Given the description of an element on the screen output the (x, y) to click on. 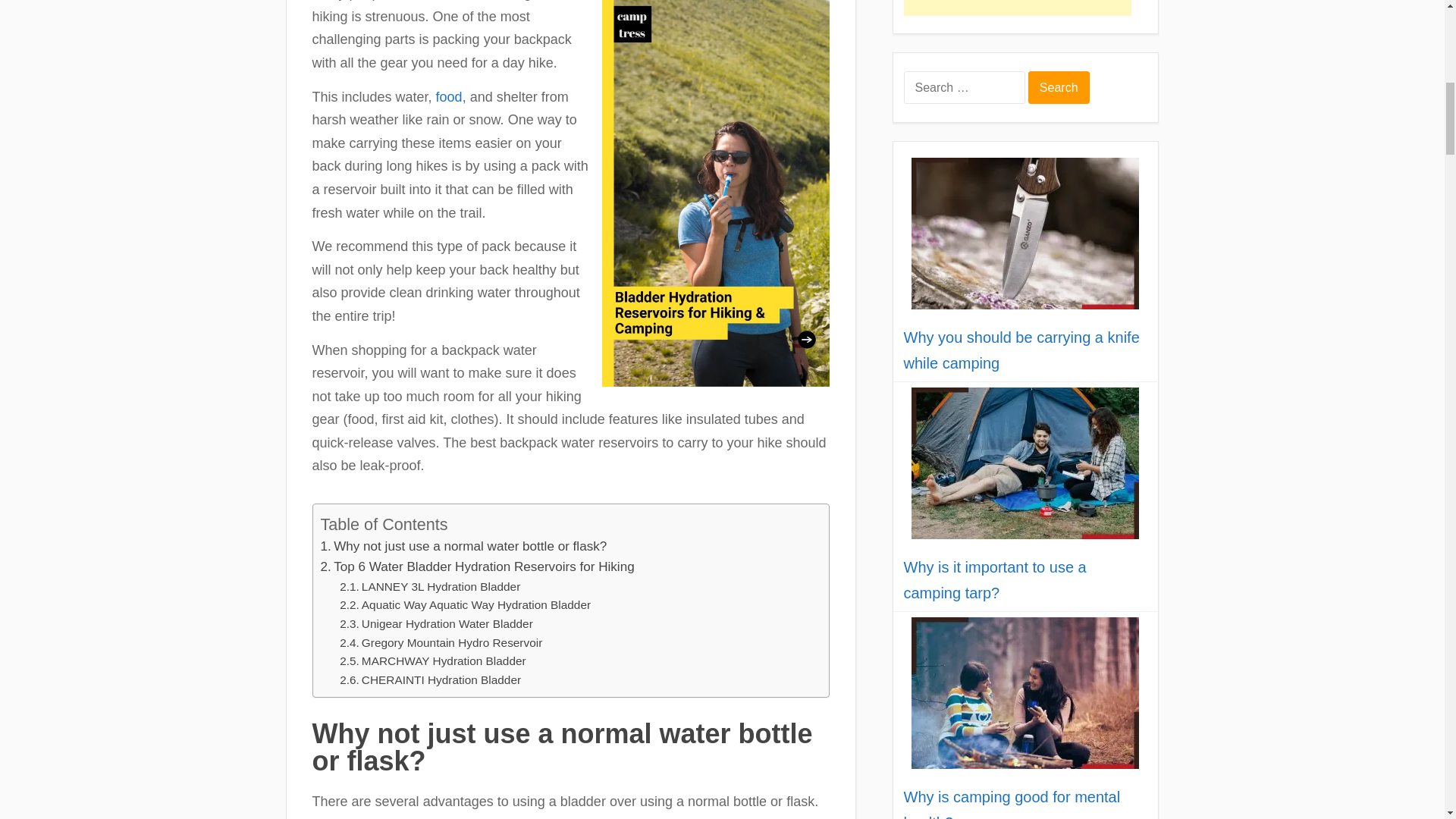
LANNEY 3L Hydration Bladder (429, 587)
MARCHWAY Hydration Bladder (432, 660)
CHERAINTI Hydration Bladder  (430, 680)
Top 6 Water Bladder Hydration Reservoirs for Hiking (476, 566)
Advertisement (1017, 7)
Search (1058, 87)
Why not just use a normal water bottle or flask? (463, 546)
Unigear Hydration Water Bladder (435, 624)
Top 6 Water Bladder Hydration Reservoirs for Hiking (476, 566)
Unigear Hydration Water Bladder (435, 624)
MARCHWAY Hydration Bladder (432, 660)
food (449, 96)
Gregory Mountain Hydro Reservoir (440, 642)
Aquatic Way Aquatic Way Hydration Bladder (465, 605)
CHERAINTI Hydration Bladder (430, 680)
